Given the description of an element on the screen output the (x, y) to click on. 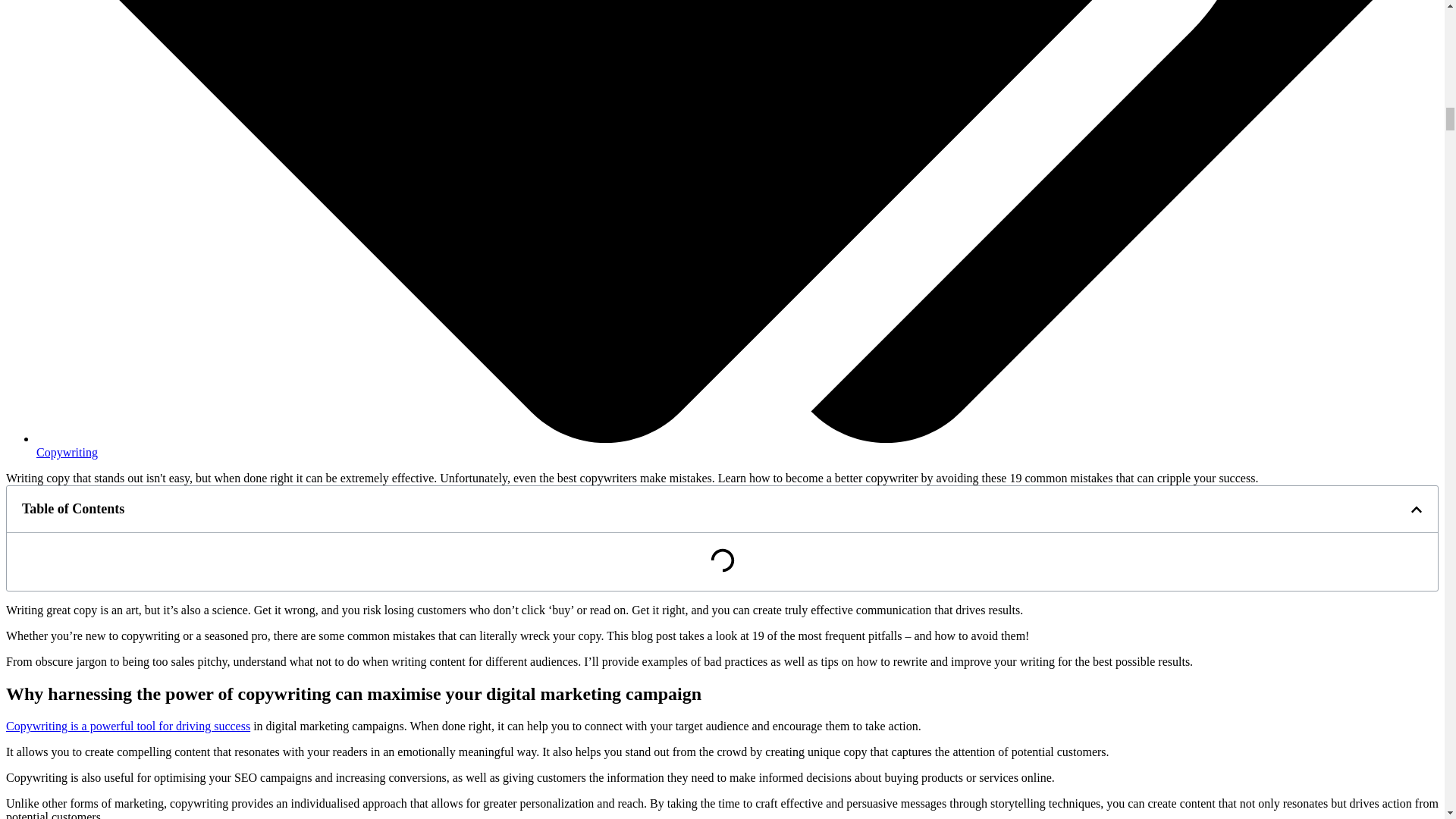
Copywriting (66, 451)
Copywriting is a powerful tool for driving success (127, 725)
